Given the description of an element on the screen output the (x, y) to click on. 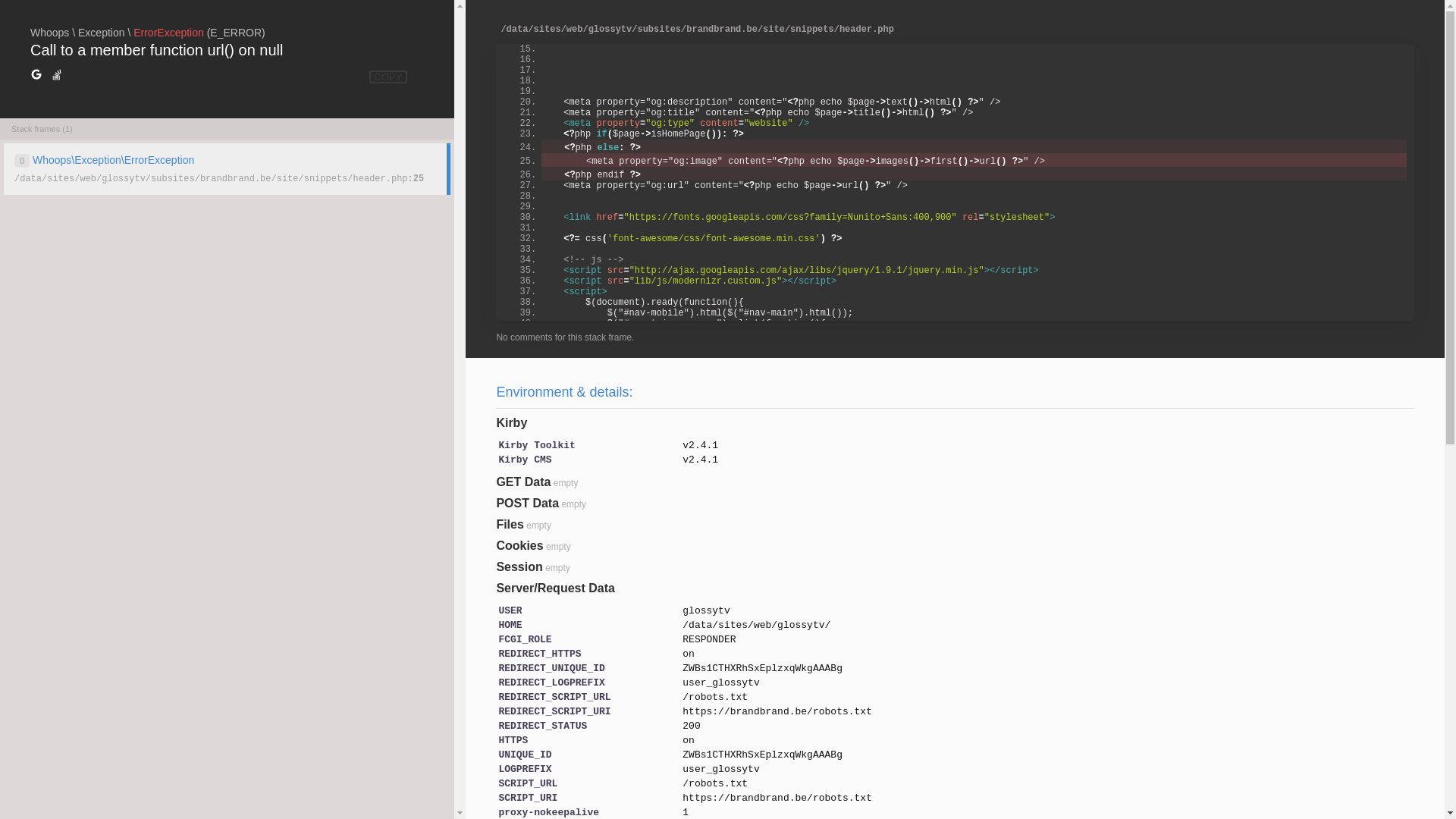
Search for help on Google. Element type: hover (36, 74)
Search for help on Stack Overflow. Element type: hover (56, 74)
COPY Element type: text (388, 76)
